Given the description of an element on the screen output the (x, y) to click on. 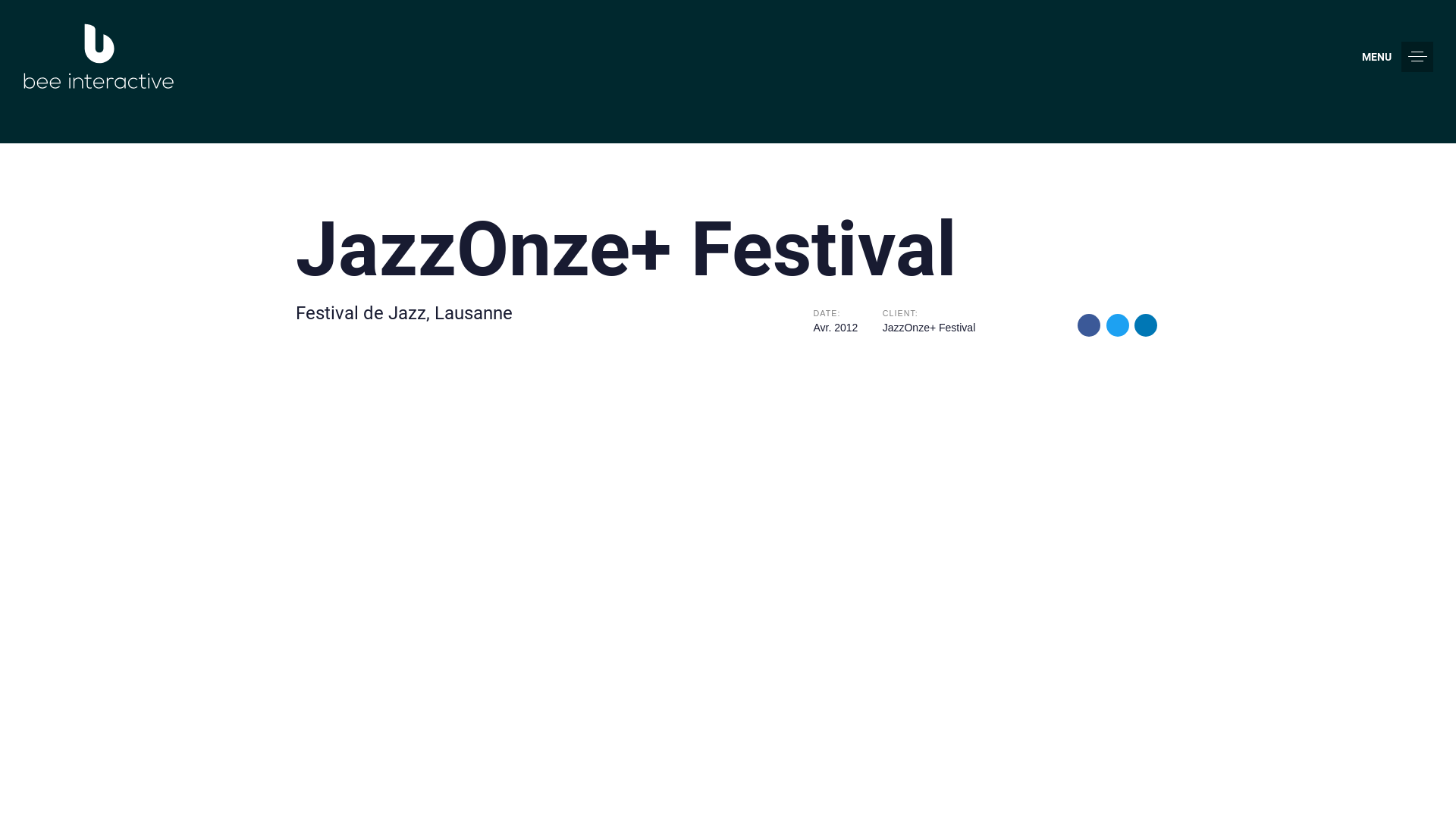
MENU Element type: text (1397, 56)
